Given the description of an element on the screen output the (x, y) to click on. 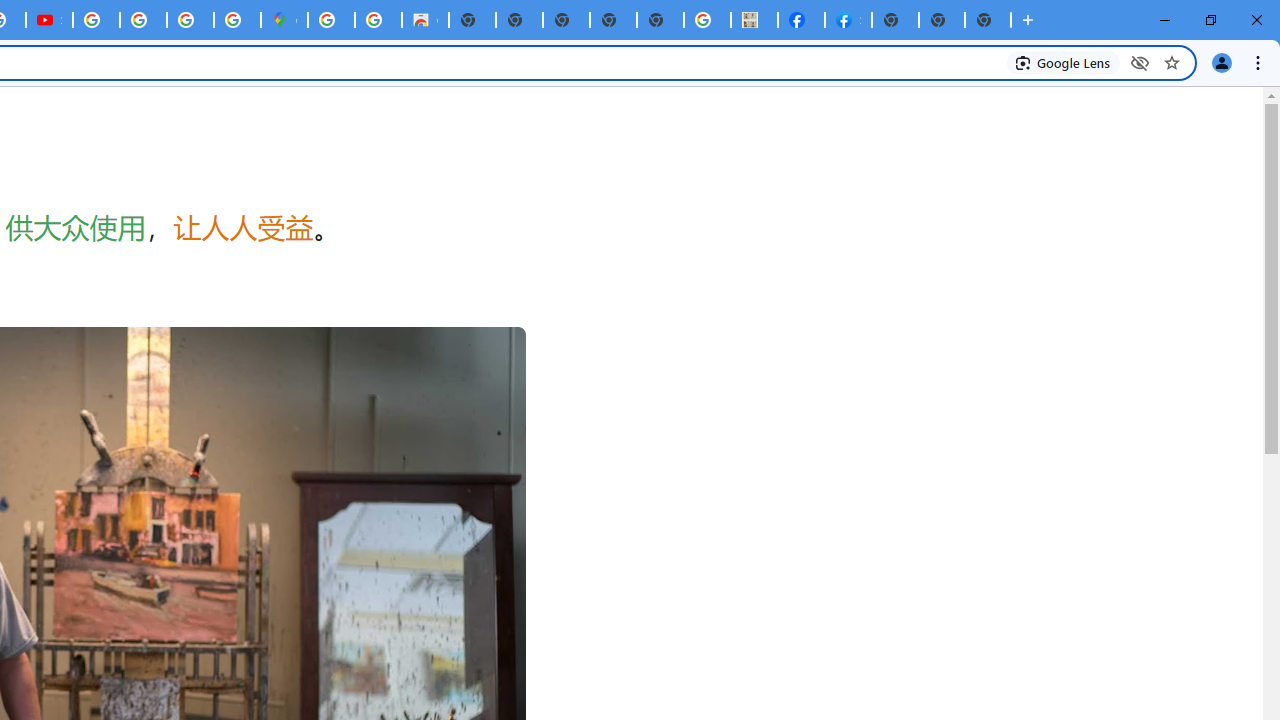
Google Maps (284, 20)
New Tab (895, 20)
New Tab (988, 20)
MILEY CYRUS. (754, 20)
